Given the description of an element on the screen output the (x, y) to click on. 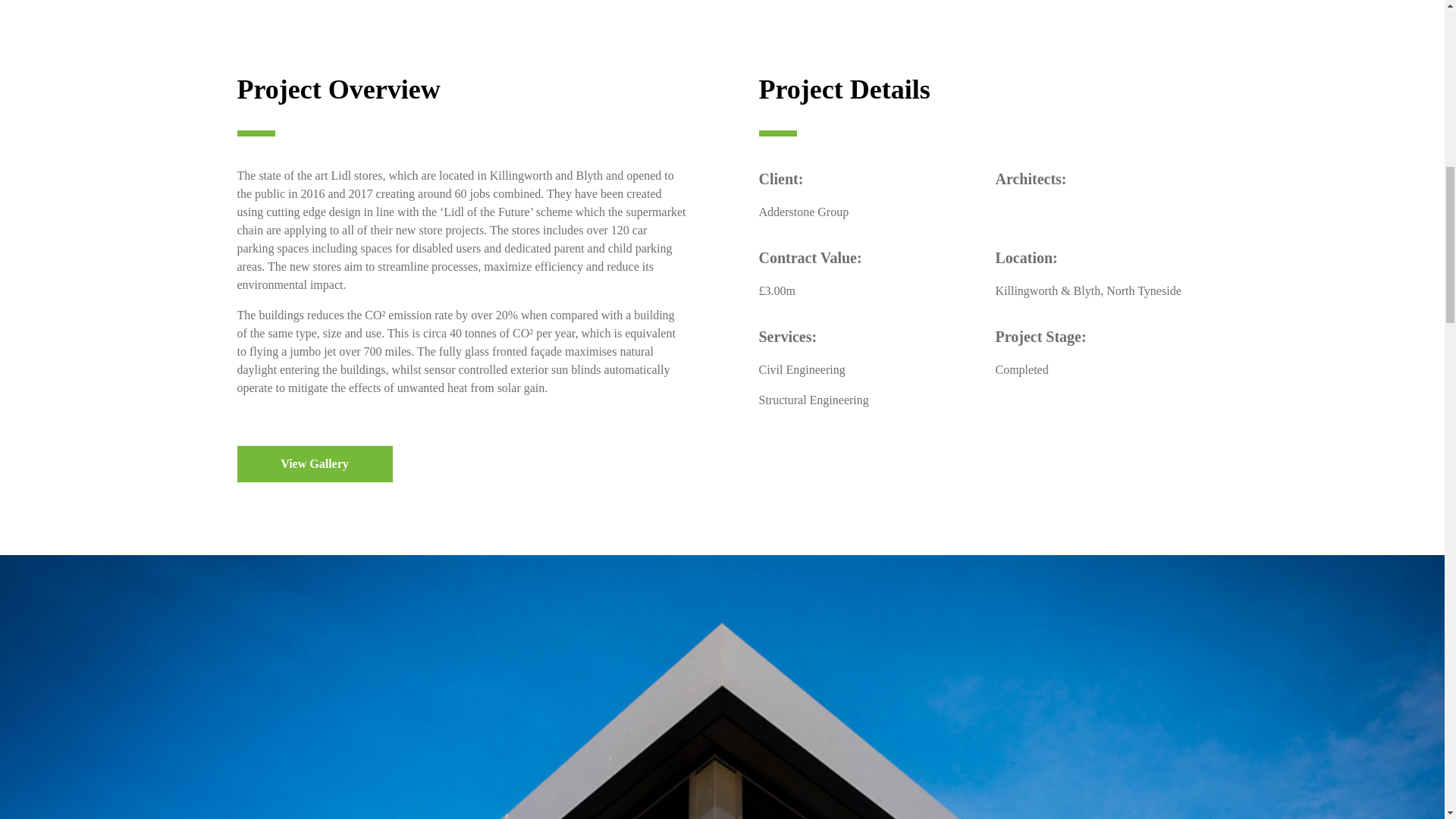
View Gallery (313, 463)
